Given the description of an element on the screen output the (x, y) to click on. 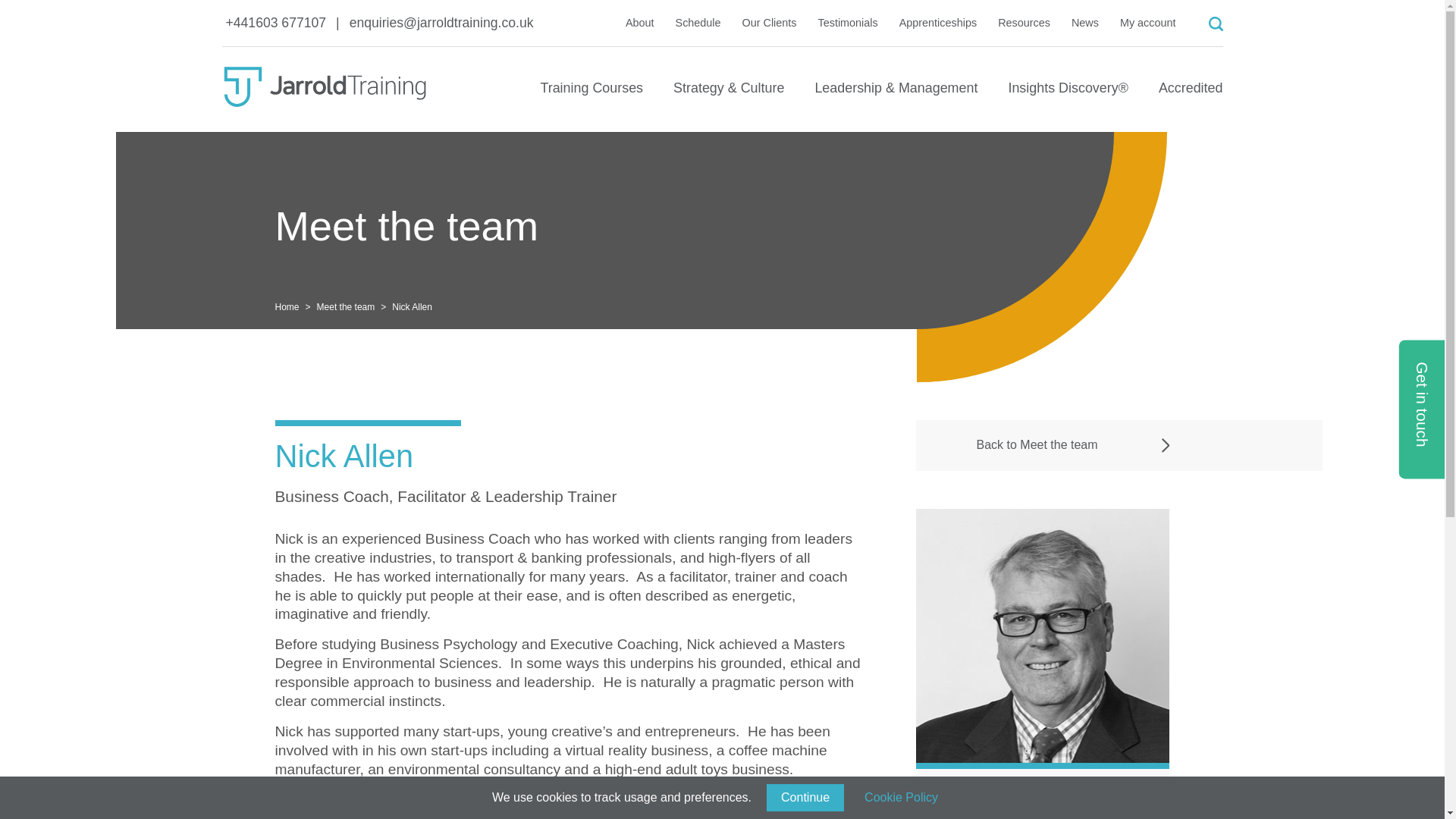
About (639, 22)
Schedule (697, 22)
Cookie Policy (901, 797)
Testimonials (847, 22)
Apprenticeships (937, 22)
Accredited (1190, 94)
Our Clients (769, 22)
My account (1147, 22)
Continue (805, 797)
Resources (1023, 22)
